Given the description of an element on the screen output the (x, y) to click on. 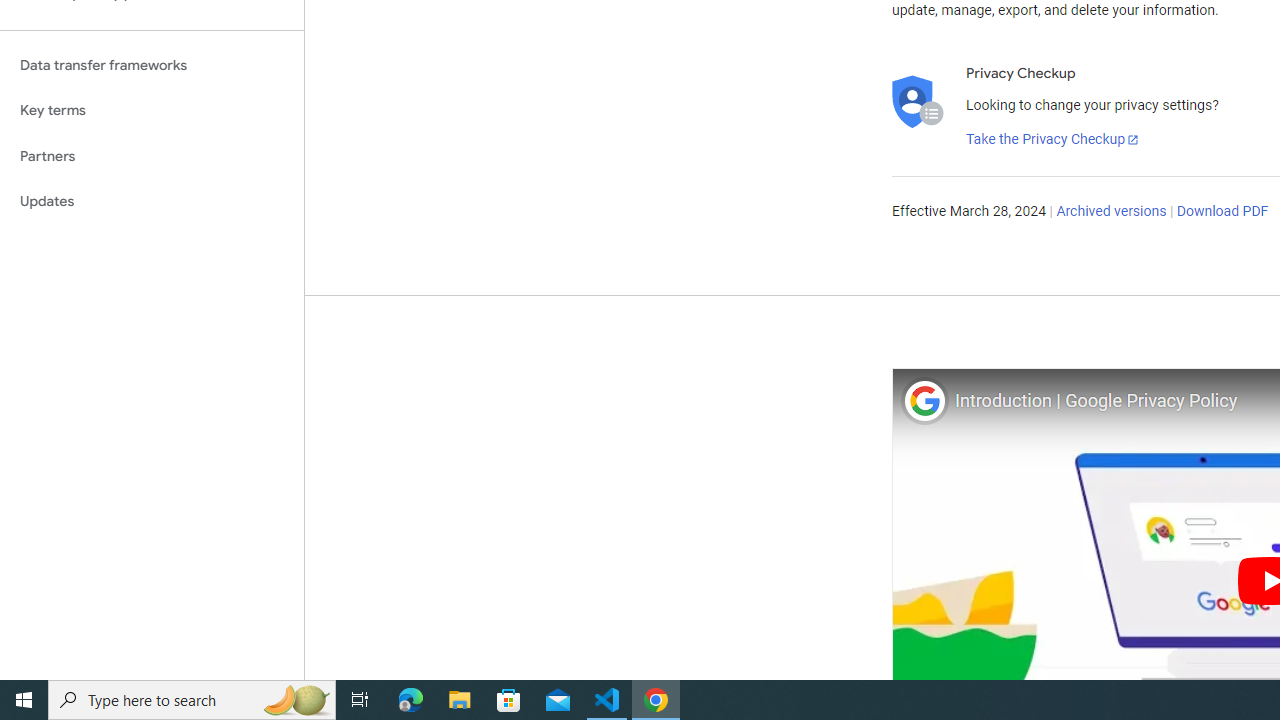
Partners (152, 156)
Archived versions (1111, 212)
Download PDF (1222, 212)
Key terms (152, 110)
Take the Privacy Checkup (1053, 140)
Data transfer frameworks (152, 65)
Photo image of Google (924, 400)
